Given the description of an element on the screen output the (x, y) to click on. 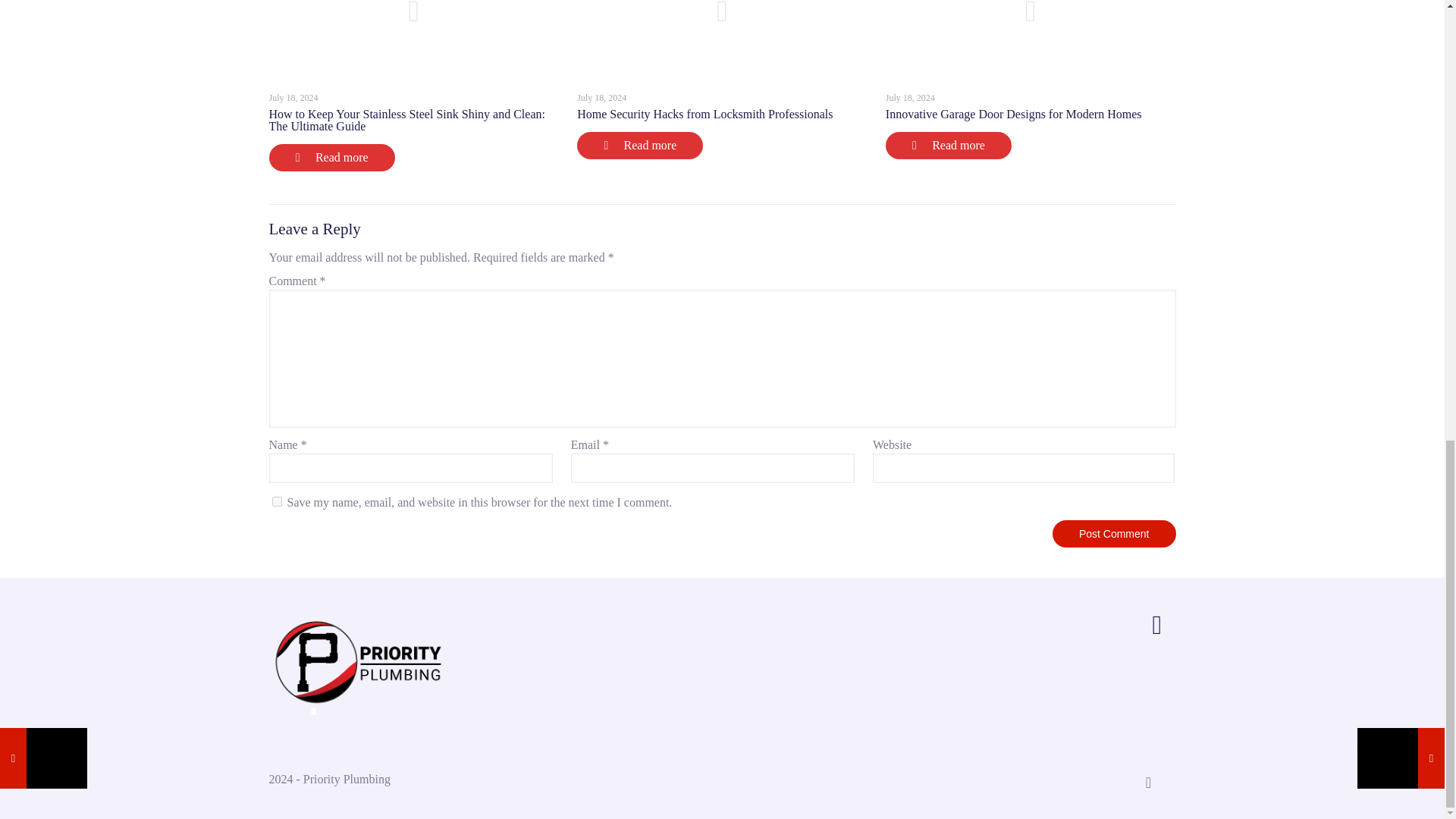
Read more (639, 144)
Facebook (1098, 779)
Post Comment (1114, 533)
Innovative Garage Door Designs for Modern Homes (1013, 113)
Read more (948, 144)
yes (275, 501)
Read more (330, 157)
Home Security Hacks from Locksmith Professionals (704, 113)
Post Comment (1114, 533)
